Given the description of an element on the screen output the (x, y) to click on. 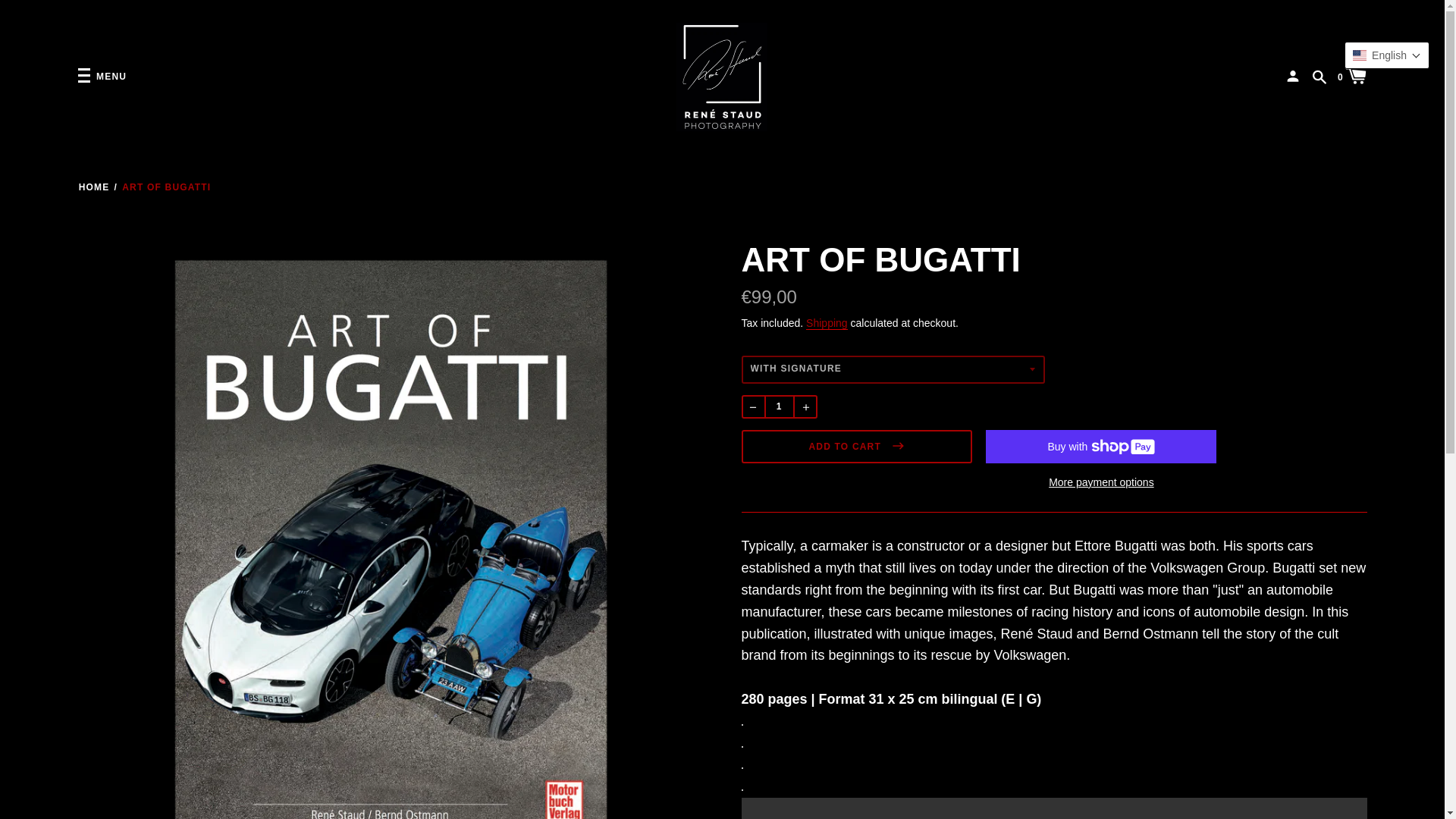
HOME (93, 187)
1 (778, 406)
MENU (101, 76)
Back to the frontpage (93, 187)
Page 22 (1054, 753)
0 (1352, 74)
